Given the description of an element on the screen output the (x, y) to click on. 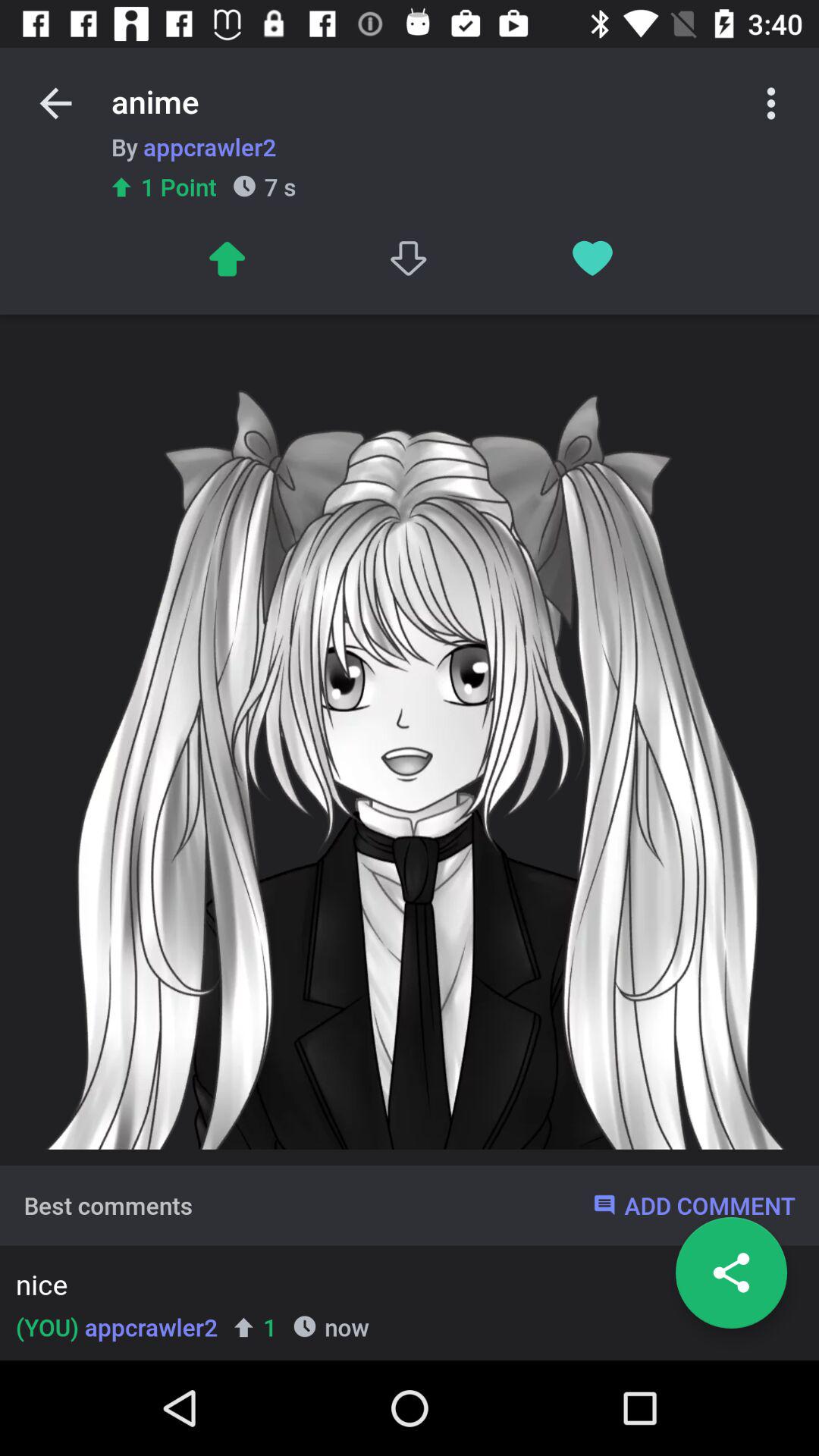
press item above now (405, 1287)
